Given the description of an element on the screen output the (x, y) to click on. 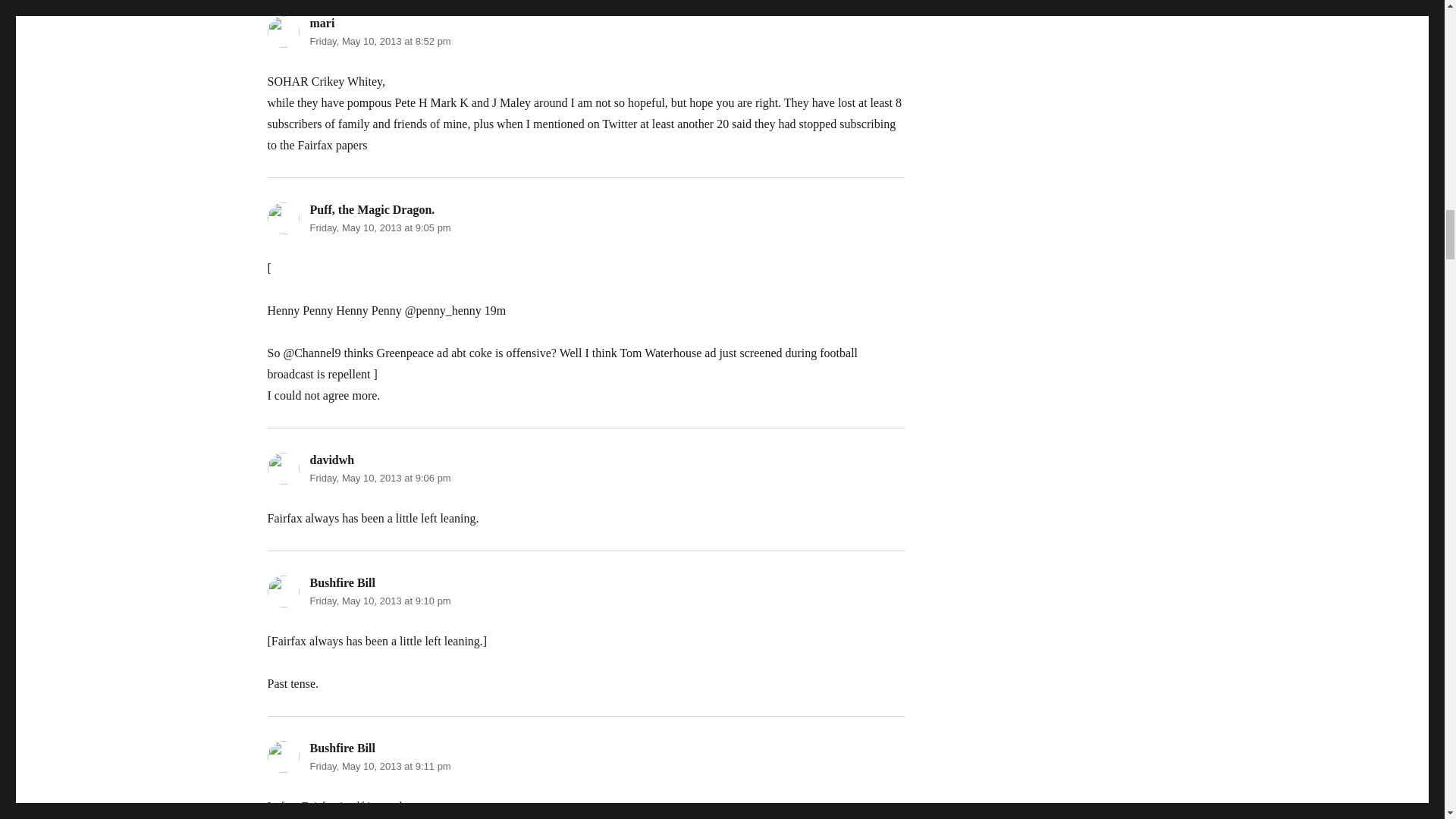
Friday, May 10, 2013 at 9:06 pm (378, 478)
Friday, May 10, 2013 at 9:10 pm (378, 600)
Friday, May 10, 2013 at 9:05 pm (378, 227)
Friday, May 10, 2013 at 9:11 pm (378, 766)
Friday, May 10, 2013 at 8:52 pm (378, 41)
